Given the description of an element on the screen output the (x, y) to click on. 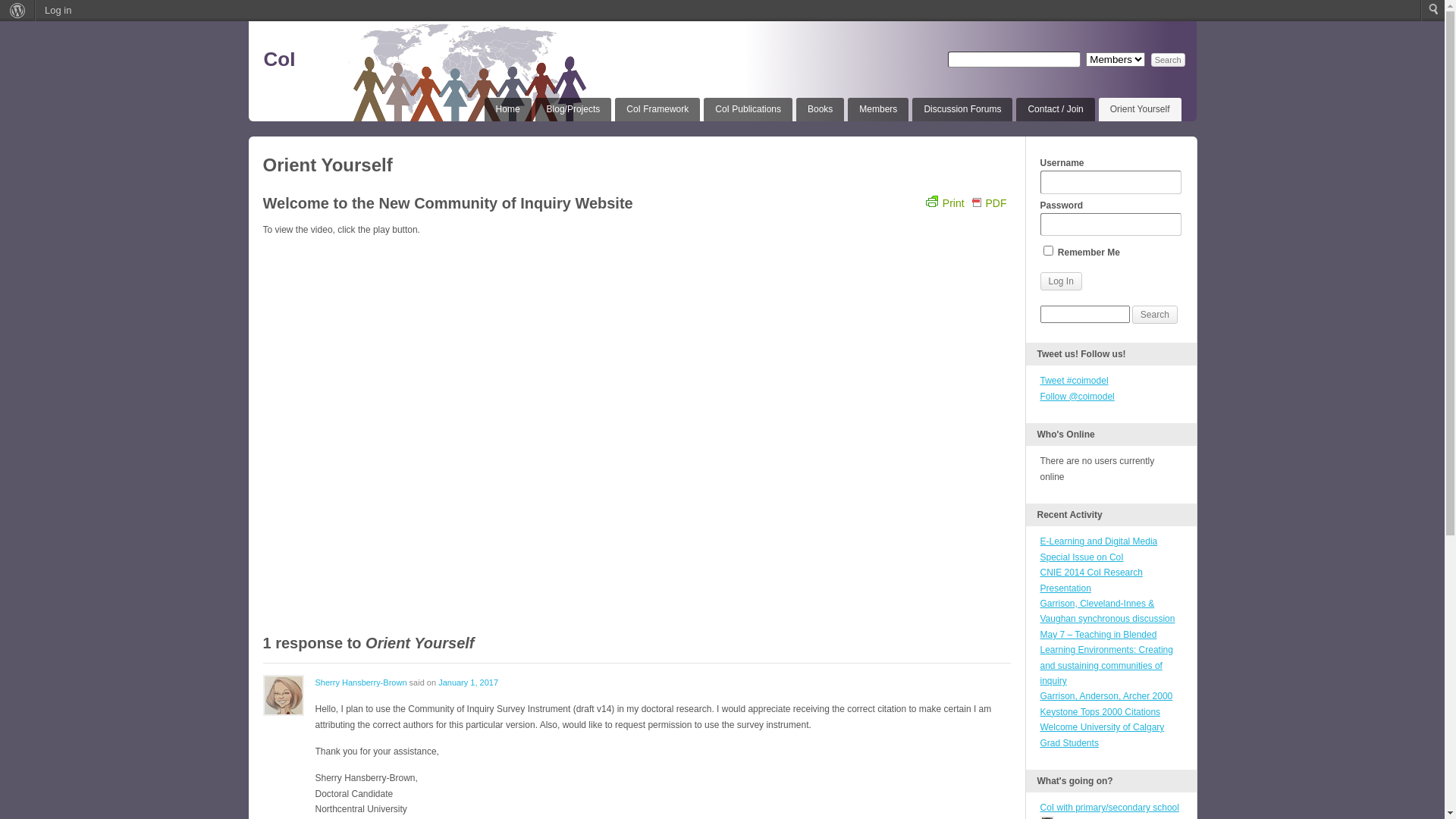
CoI Publications Element type: text (747, 108)
About WordPress Element type: hover (17, 10)
Welcome University of Calgary Grad Students Element type: text (1102, 734)
Blog/Projects Element type: text (573, 108)
Follow @coimodel Element type: text (1077, 396)
Search Element type: text (1154, 314)
E-Learning and Digital Media Special Issue on CoI Element type: text (1098, 548)
January 1, 2017 Element type: text (468, 682)
CNIE 2014 CoI Research Presentation Element type: text (1091, 580)
Garrison, Anderson, Archer 2000 Keystone Tops 2000 Citations Element type: text (1106, 703)
Search Element type: text (16, 11)
Contact / Join Element type: text (1055, 108)
Discussion Forums Element type: text (962, 108)
Search Element type: text (1168, 59)
Log in Element type: text (57, 10)
Members Element type: text (877, 108)
Tweet #coimodel Element type: text (1074, 380)
Home Element type: text (507, 108)
Log In Element type: text (1061, 281)
CoI Element type: text (279, 58)
Sherry Hansberry-Brown Element type: text (361, 682)
Books Element type: text (820, 108)
Print PDF Element type: text (966, 206)
Orient Yourself Element type: text (1139, 108)
CoI Framework Element type: text (657, 108)
